Given the description of an element on the screen output the (x, y) to click on. 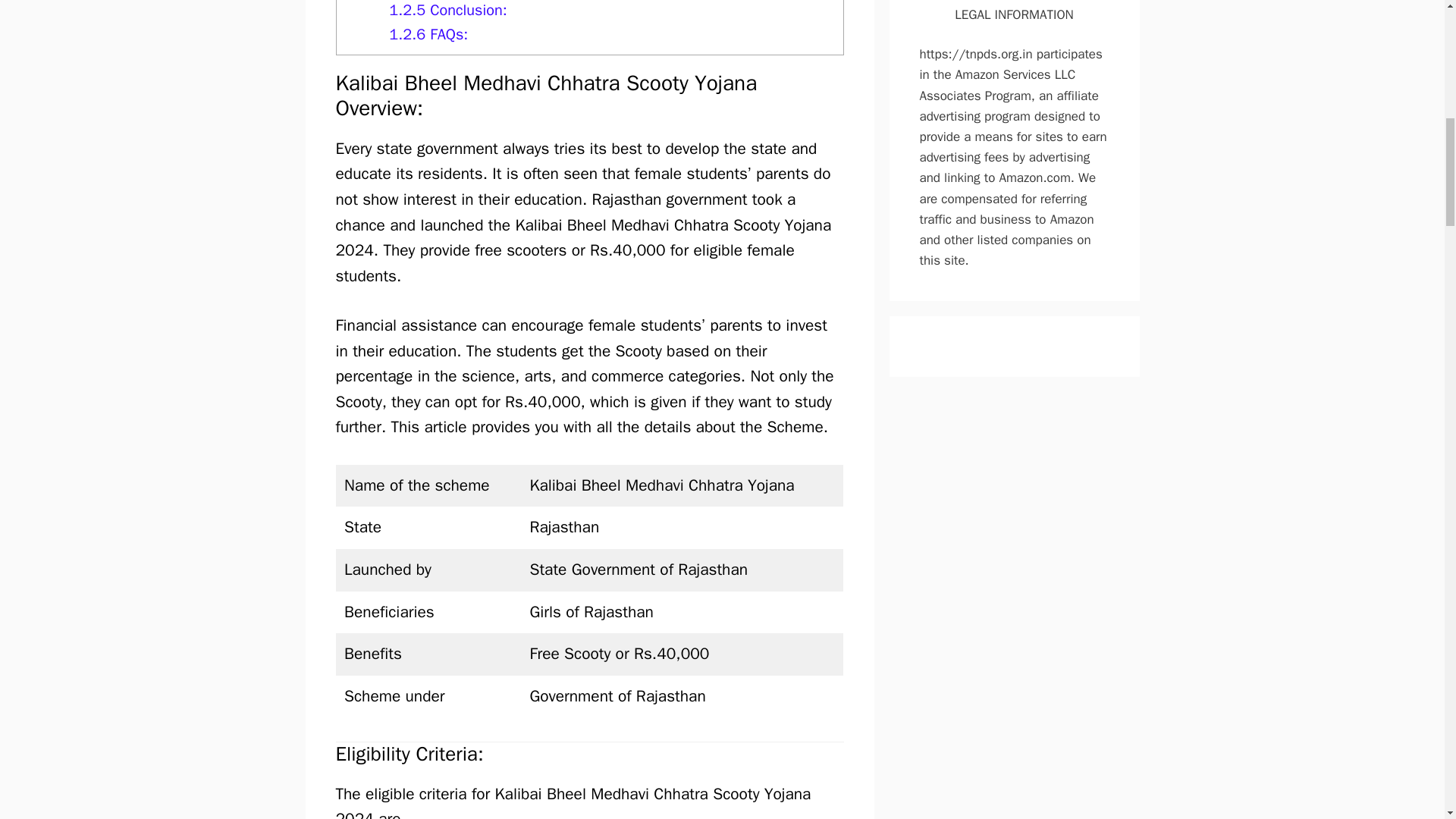
Scroll back to top (1406, 720)
1.2.5 Conclusion: (447, 9)
1.2.6 FAQs: (427, 34)
